Given the description of an element on the screen output the (x, y) to click on. 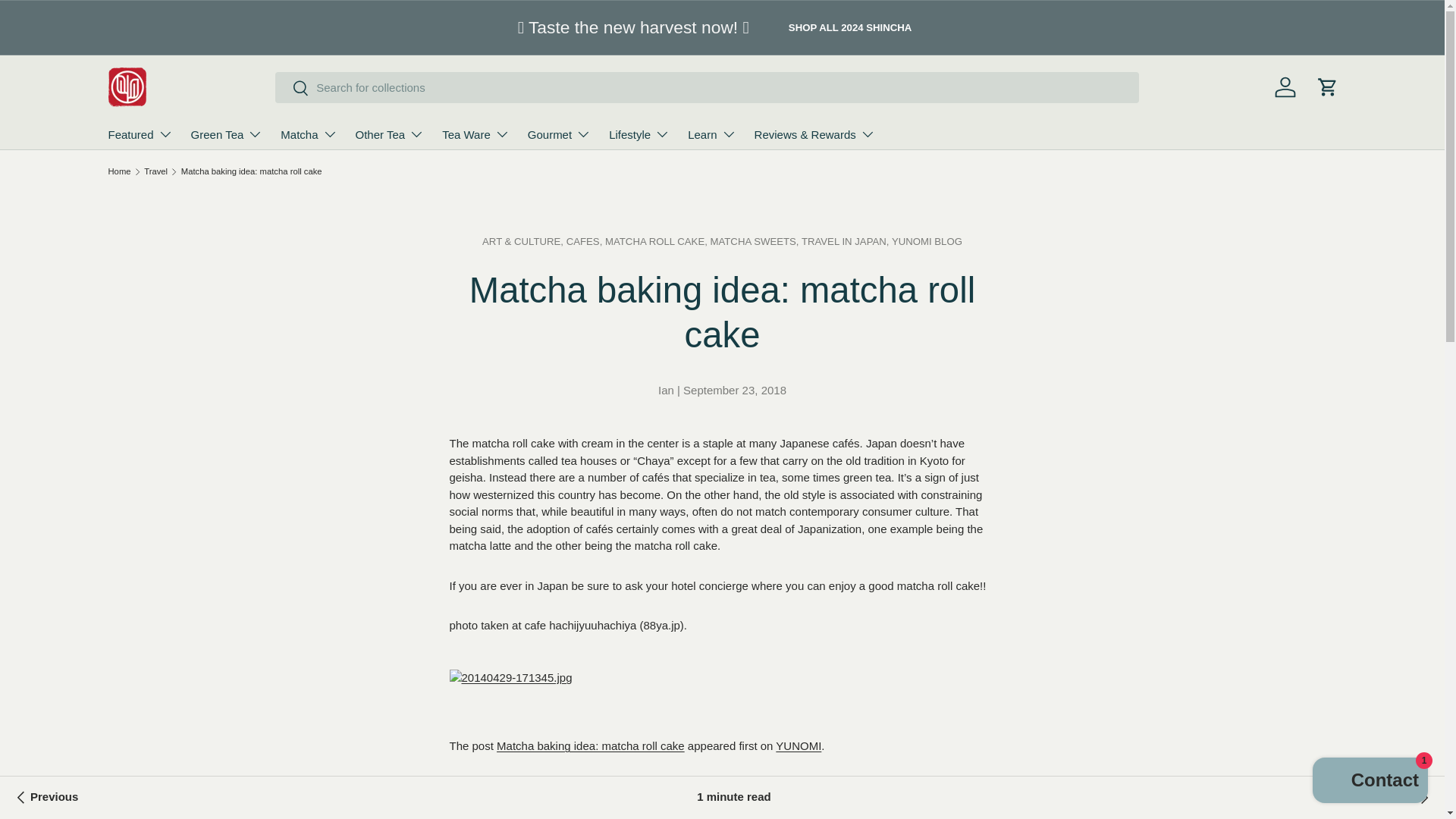
Log in (1284, 87)
Shopify online store chat (1369, 781)
SHOP ALL 2024 SHINCHA (849, 27)
Cart (1326, 87)
Green Tea (226, 133)
Search (291, 89)
Share on Facebook (539, 807)
SKIP TO CONTENT (63, 23)
Featured (139, 133)
Tweet on X (505, 807)
Green Tea Restaurant opening in Ochanomizu, Tokyo (1410, 797)
